Given the description of an element on the screen output the (x, y) to click on. 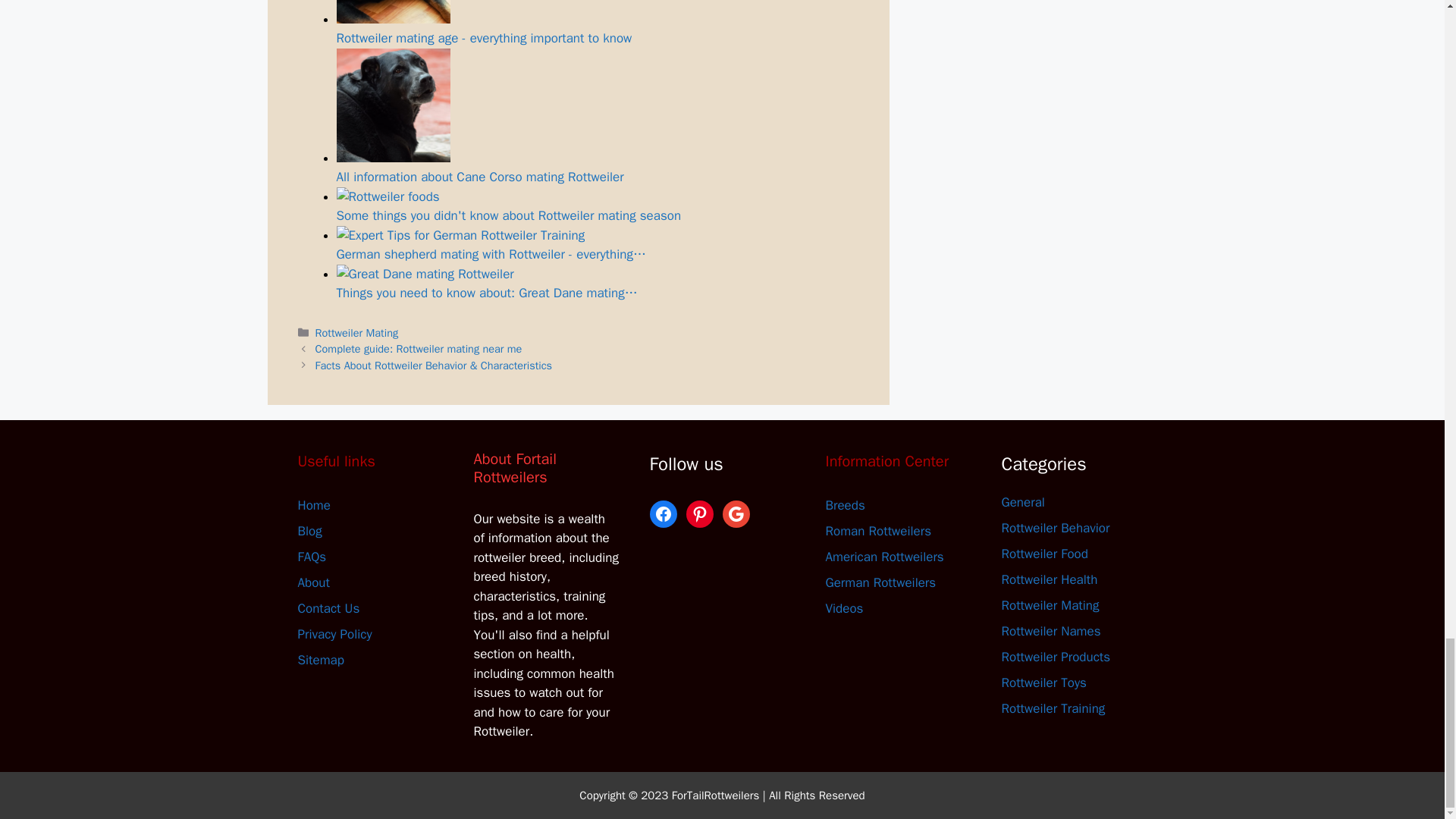
Rottweiler Mating (356, 332)
All information about Cane Corso mating Rottweiler (392, 105)
Rottweiler mating age - everything important to know (392, 11)
Rottweiler mating age - everything important to know (597, 23)
Some things you didn't know about Rottweiler mating season (597, 205)
All information about Cane Corso mating Rottweiler (597, 116)
Some things you didn't know about Rottweiler mating season (387, 197)
